Given the description of an element on the screen output the (x, y) to click on. 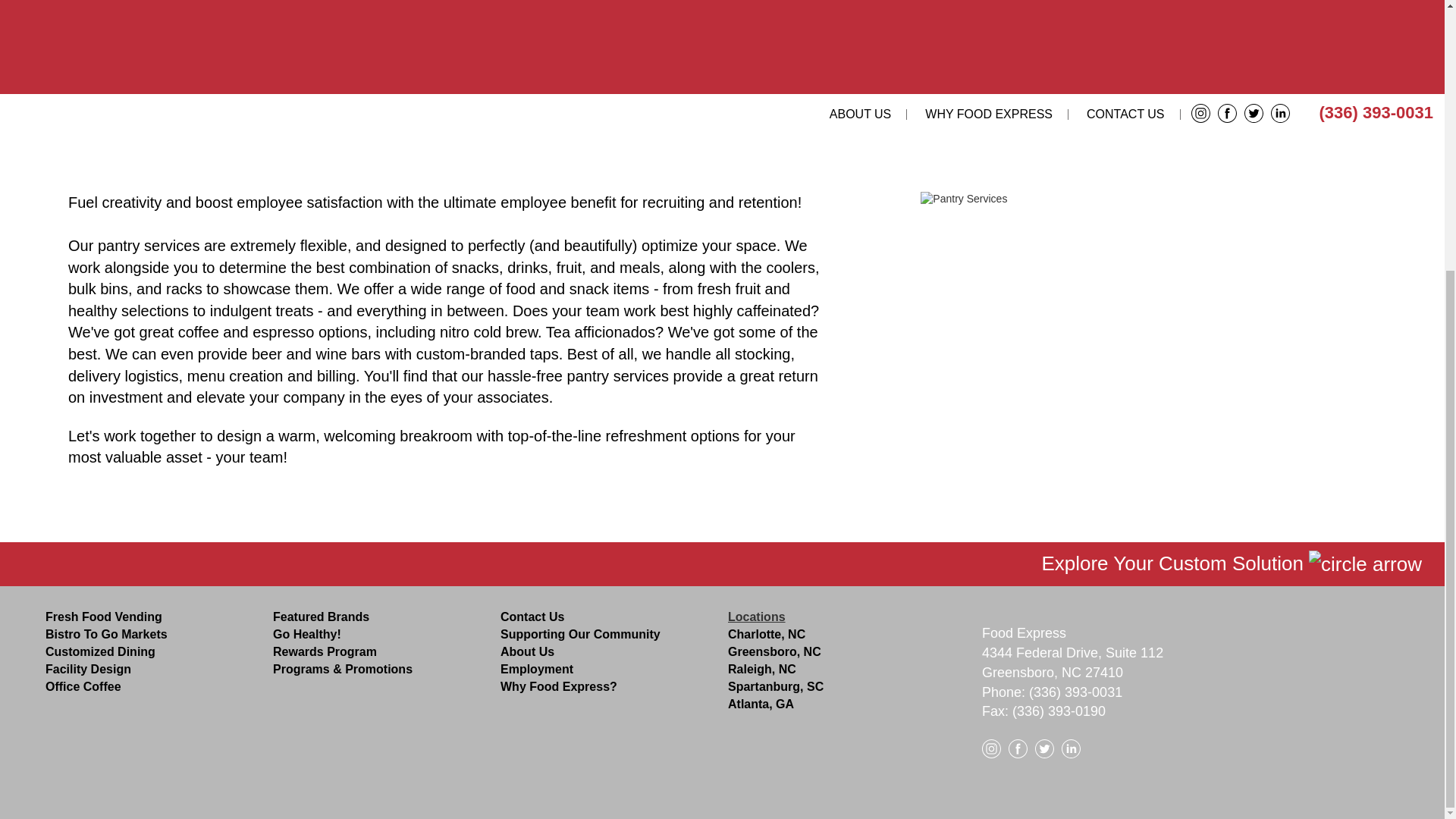
ABOUT US (864, 113)
CONTACT US (1129, 113)
WHY FOOD EXPRESS (992, 113)
